Given the description of an element on the screen output the (x, y) to click on. 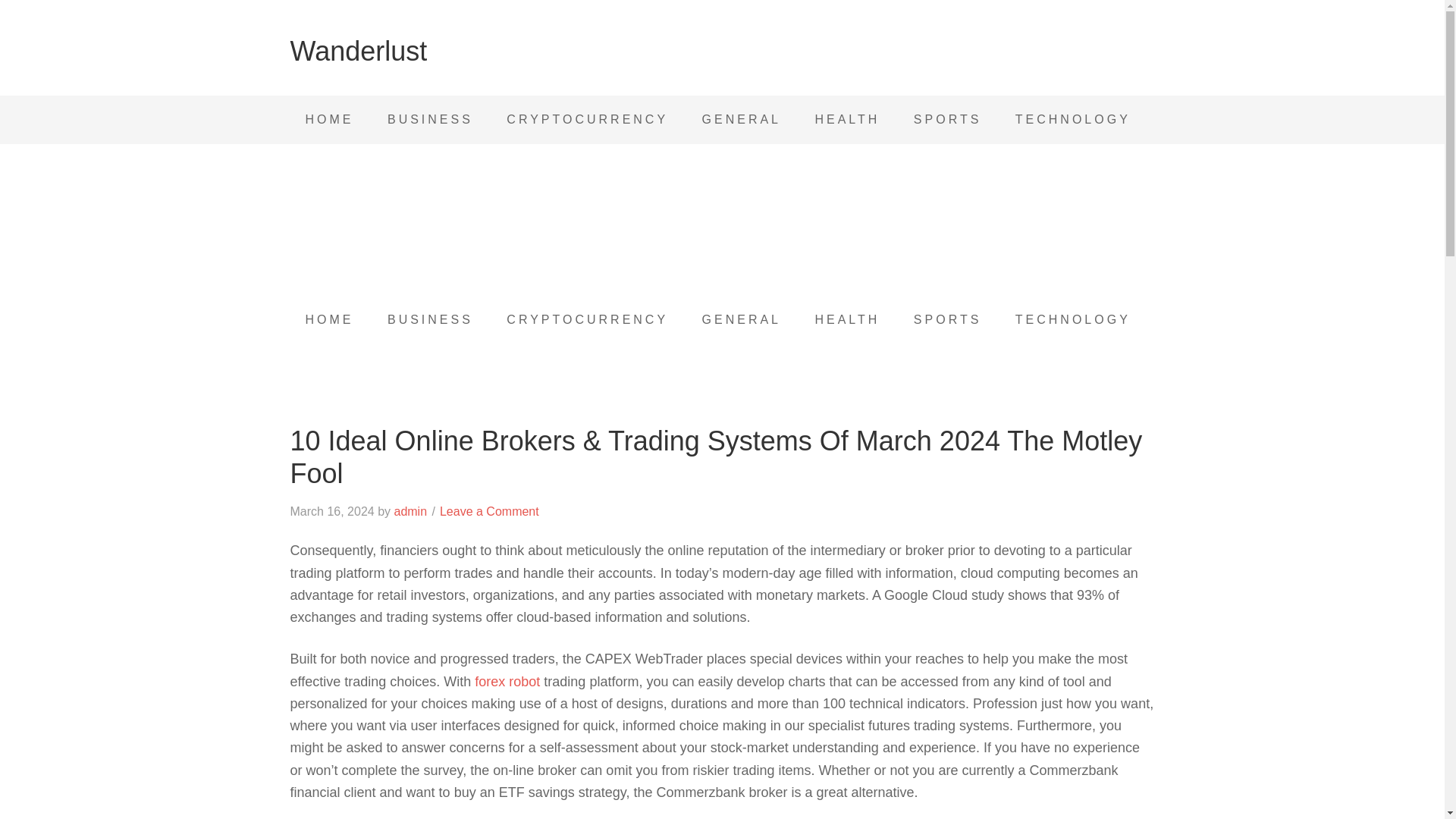
HEALTH (847, 119)
TECHNOLOGY (1072, 319)
BUSINESS (429, 119)
forex robot (507, 681)
HEALTH (847, 319)
GENERAL (741, 319)
SPORTS (947, 119)
SPORTS (947, 319)
GENERAL (741, 119)
TECHNOLOGY (1072, 119)
